Given the description of an element on the screen output the (x, y) to click on. 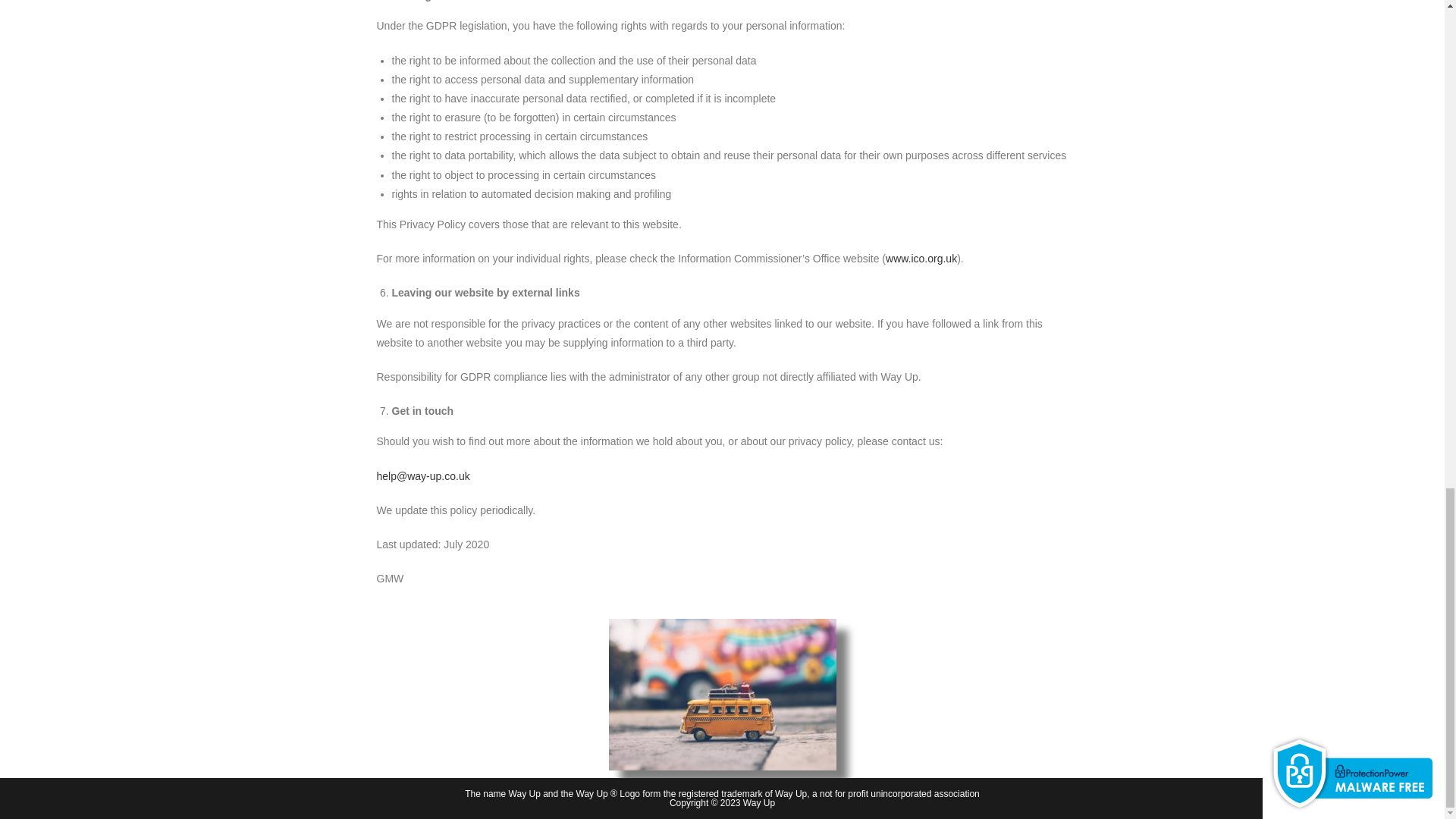
www.ico.org.uk (920, 258)
